Given the description of an element on the screen output the (x, y) to click on. 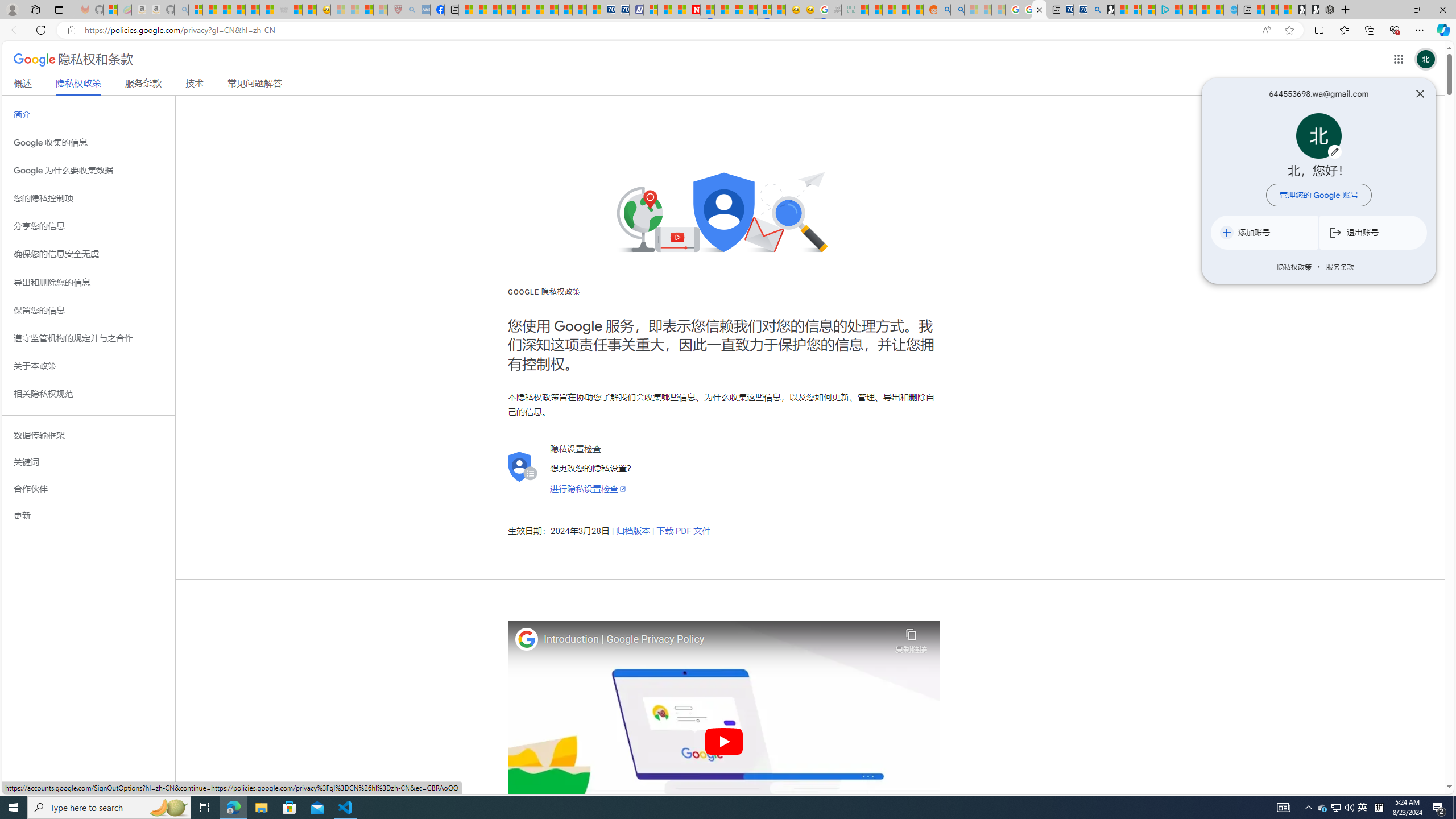
Combat Siege - Sleeping (280, 9)
Utah sues federal government - Search (957, 9)
